Given the description of an element on the screen output the (x, y) to click on. 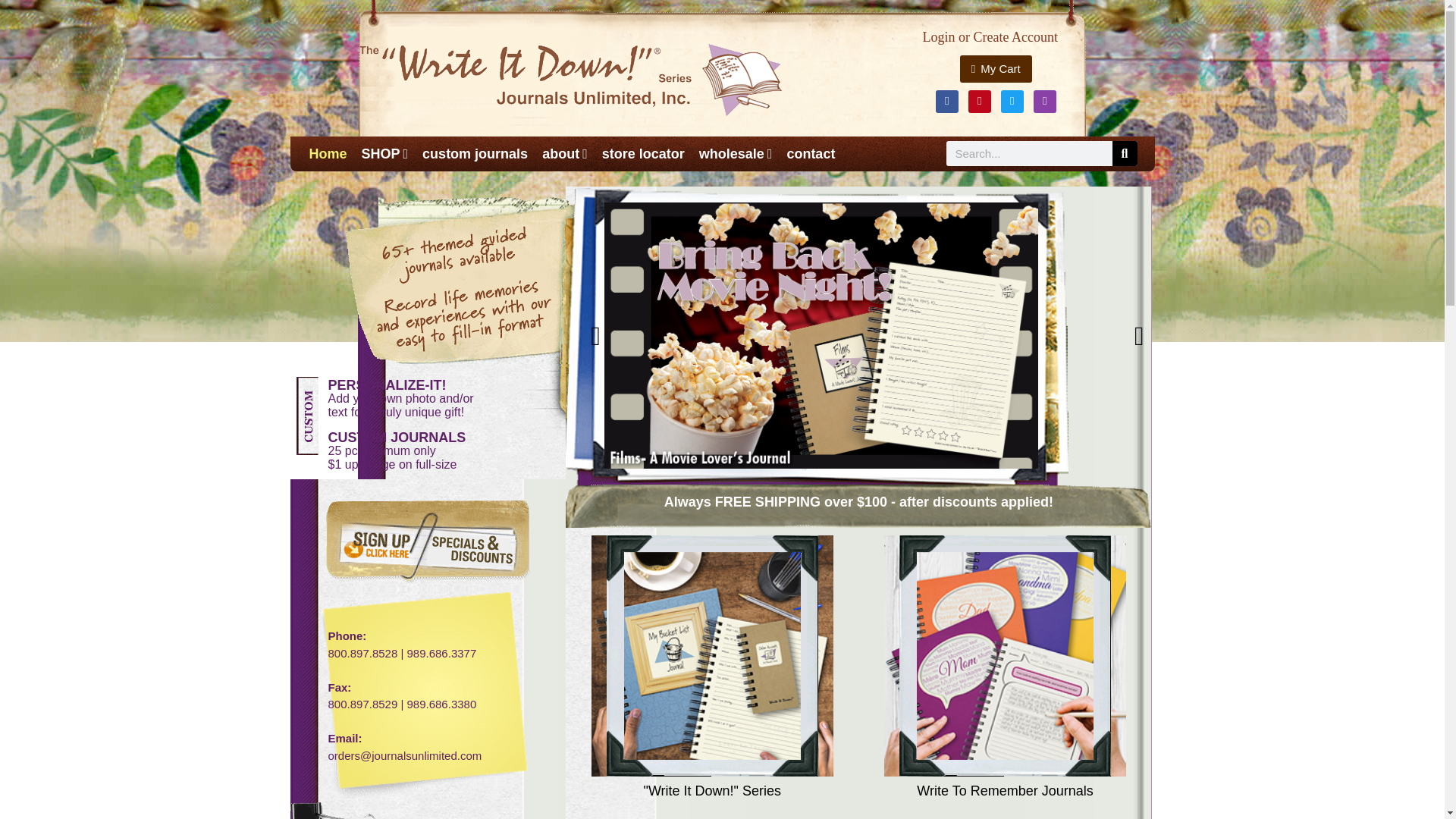
My Cart (995, 67)
store locator (643, 153)
custom journals (475, 153)
wholesale (735, 153)
SHOP (385, 153)
about (564, 153)
Home (327, 153)
Login or Create Account (990, 37)
